Given the description of an element on the screen output the (x, y) to click on. 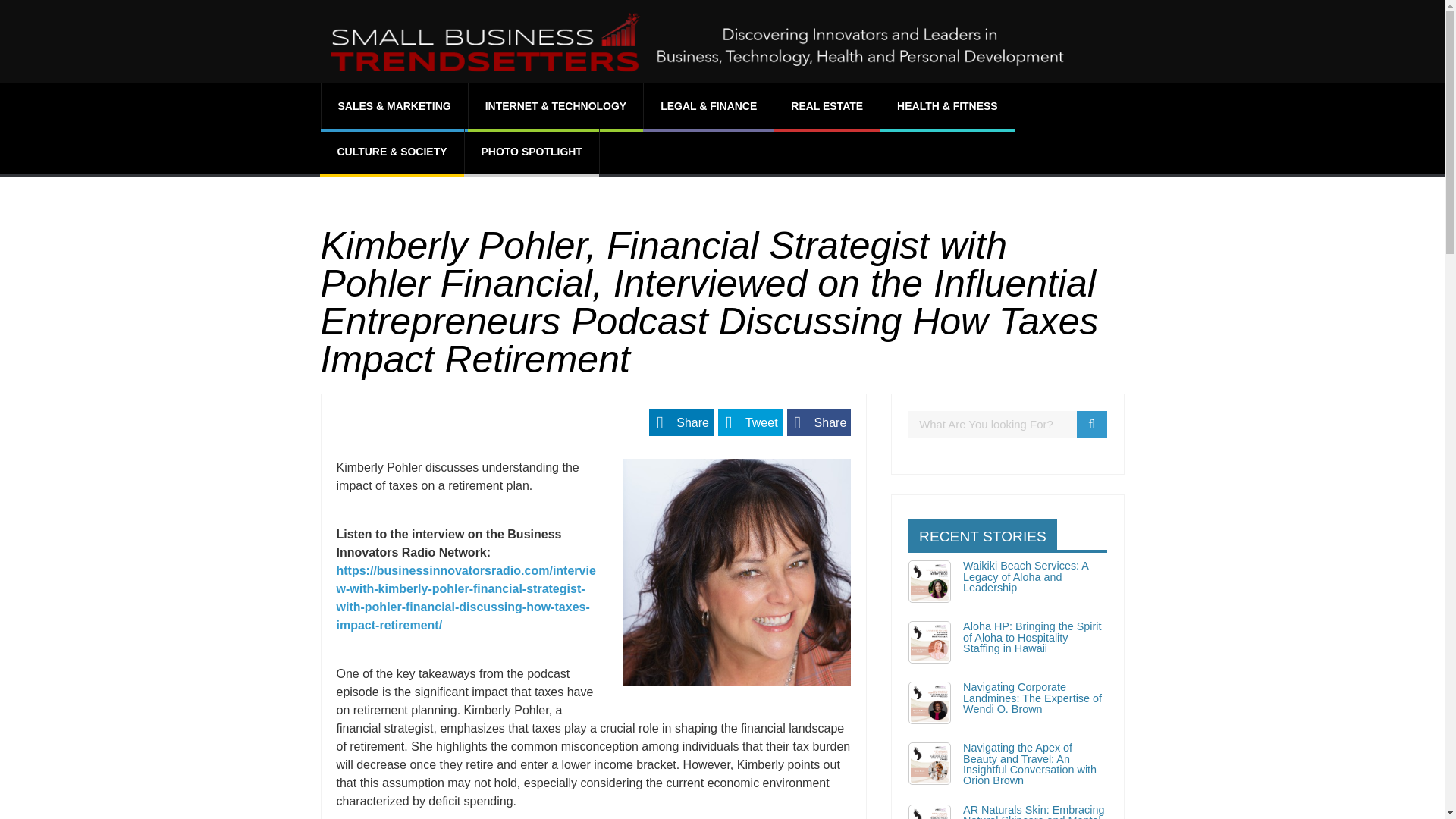
PHOTO SPOTLIGHT (531, 151)
Share (681, 422)
Tweet (750, 422)
Share (819, 422)
Waikiki Beach Services: A Legacy of Aloha and Leadership (1024, 576)
REAL ESTATE (826, 105)
Kim-Pohler-resized-image.jpg (736, 572)
